Given the description of an element on the screen output the (x, y) to click on. 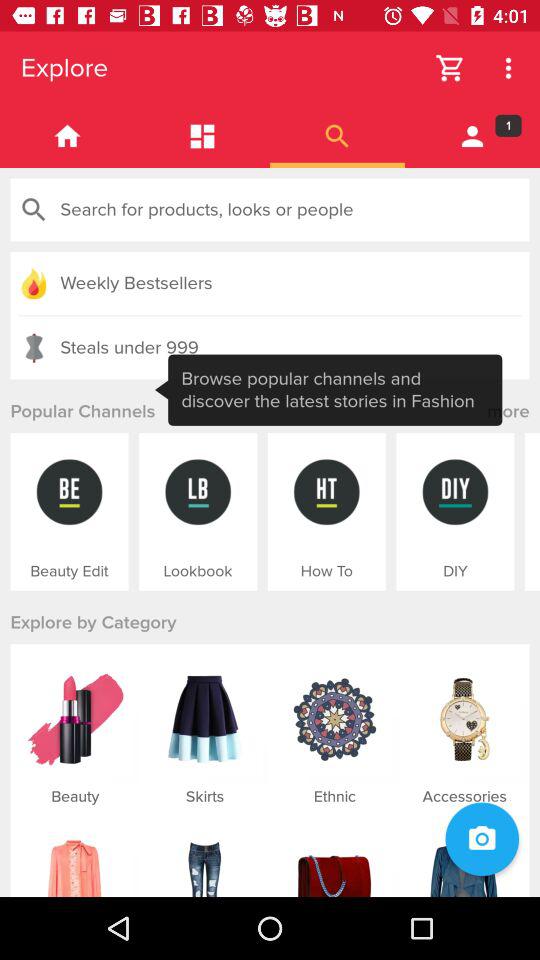
show galery (202, 136)
